Given the description of an element on the screen output the (x, y) to click on. 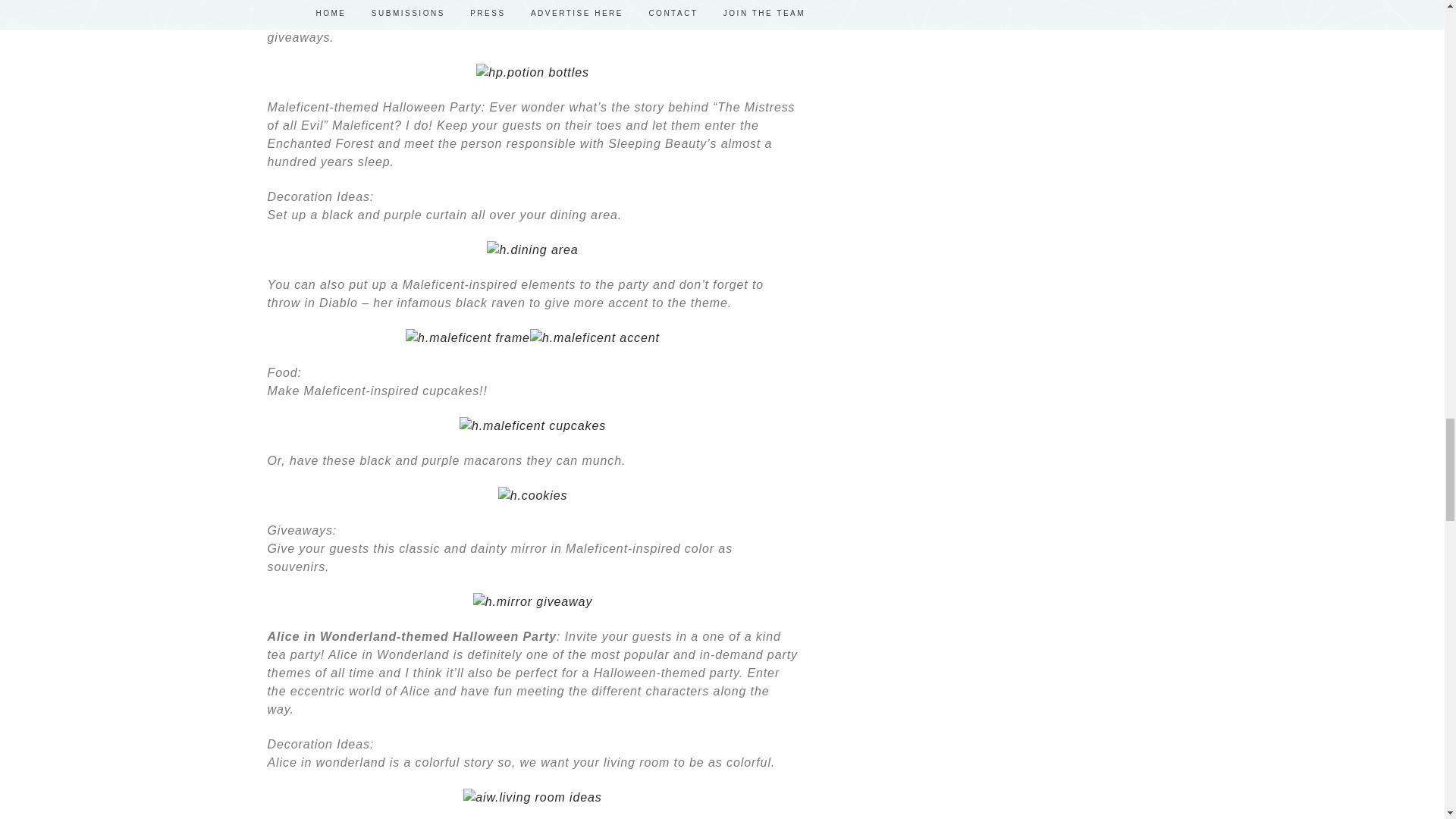
h.maleficent cupcakes (532, 425)
h.maleficent frame (467, 337)
hp.potion bottles (532, 72)
h.cookies (532, 495)
h.dining area (532, 249)
h.maleficent accent (594, 337)
